Given the description of an element on the screen output the (x, y) to click on. 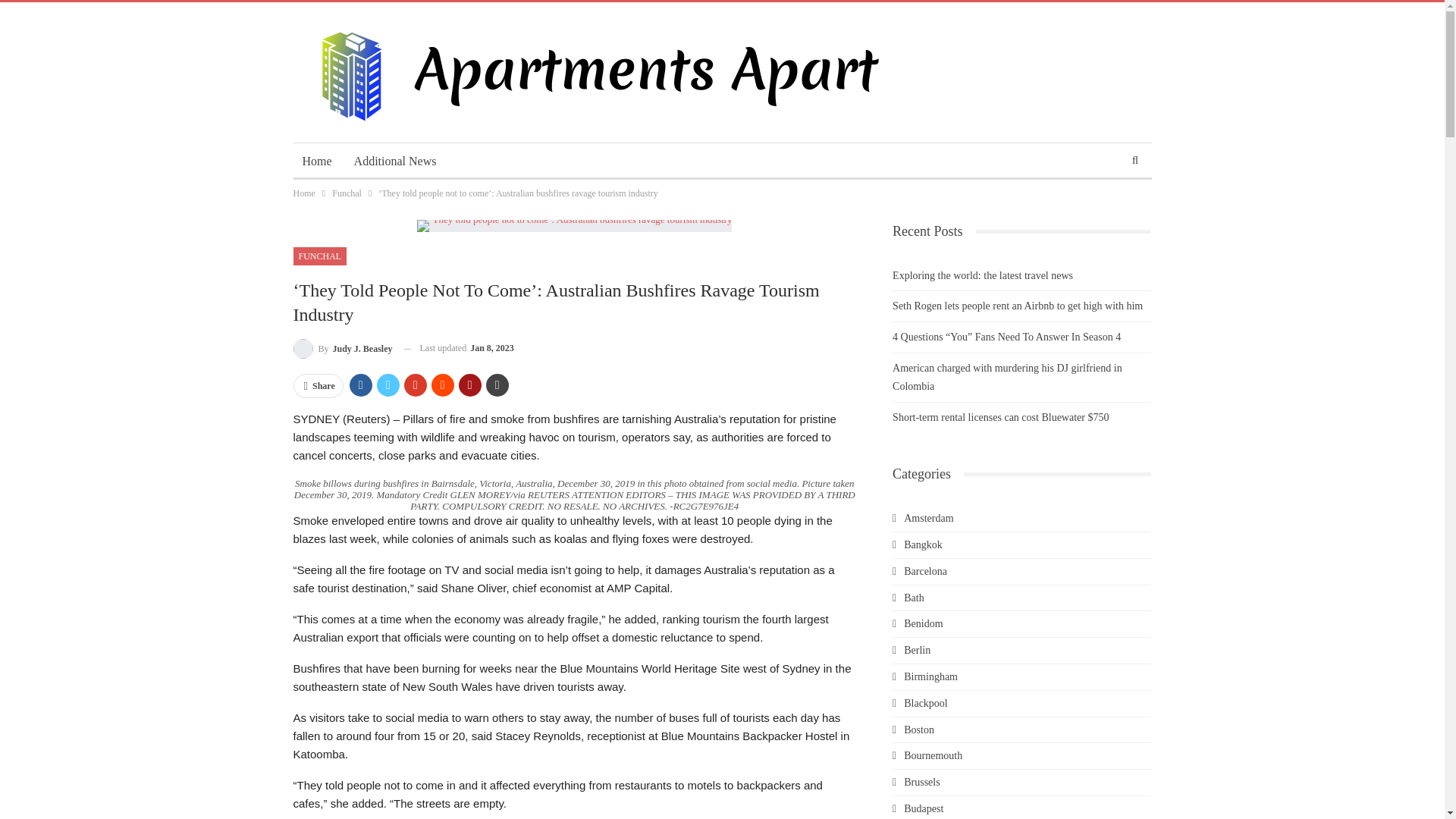
Additional News (395, 161)
Home (316, 161)
Home (303, 193)
Browse Author Articles (341, 348)
By Judy J. Beasley (341, 348)
FUNCHAL (319, 256)
Funchal (346, 193)
